Given the description of an element on the screen output the (x, y) to click on. 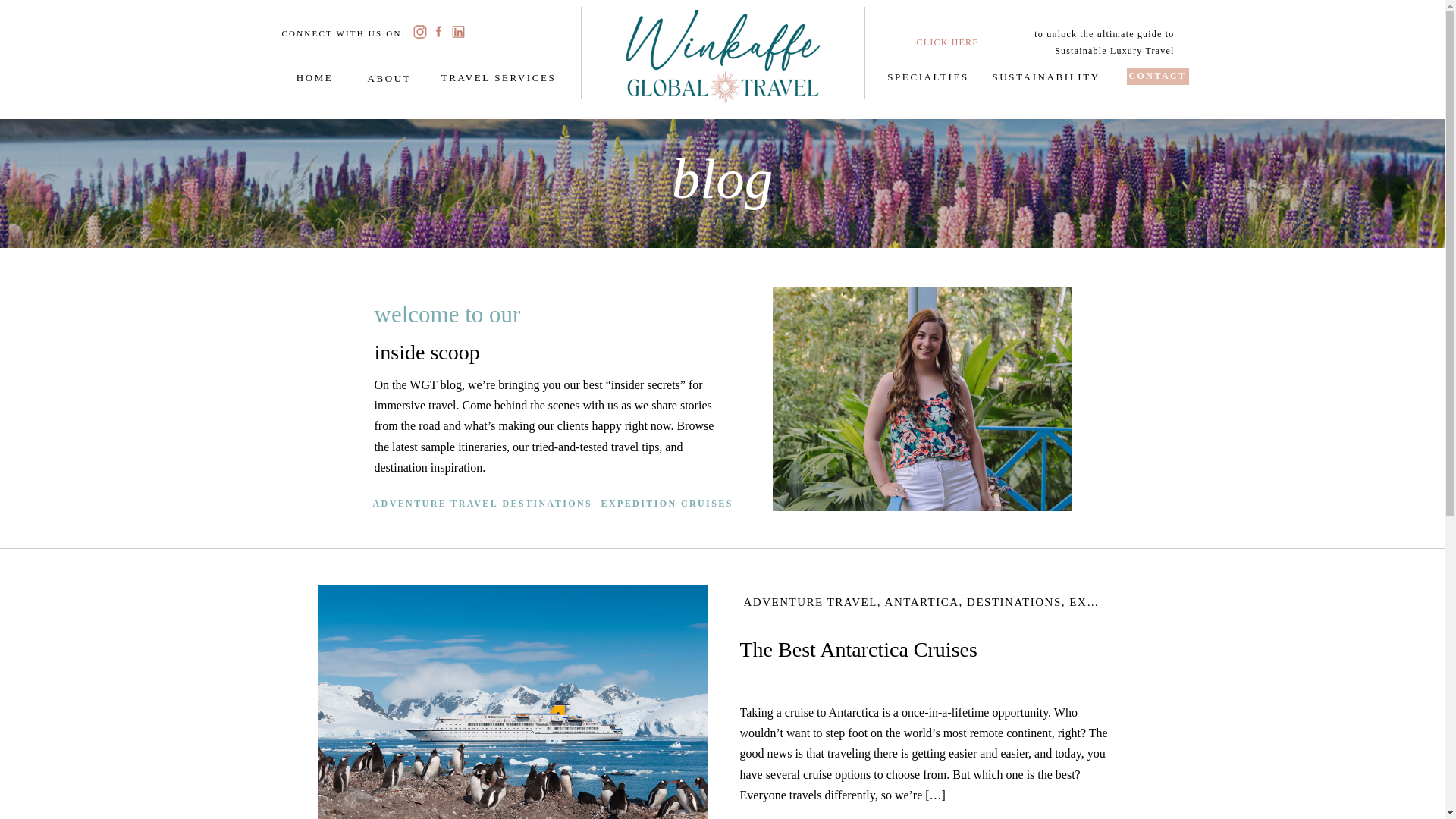
ABOUT (388, 76)
The Best Antarctica Cruises (857, 649)
ANTARTICA (922, 602)
ADVENTURE TRAVEL (809, 602)
The Best Antarctica Cruises (512, 702)
TRAVEL SERVICES (497, 75)
CONNECT WITH US ON: (344, 32)
HOME (314, 75)
SPECIALTIES (927, 74)
CONTACT (1157, 73)
